Given the description of an element on the screen output the (x, y) to click on. 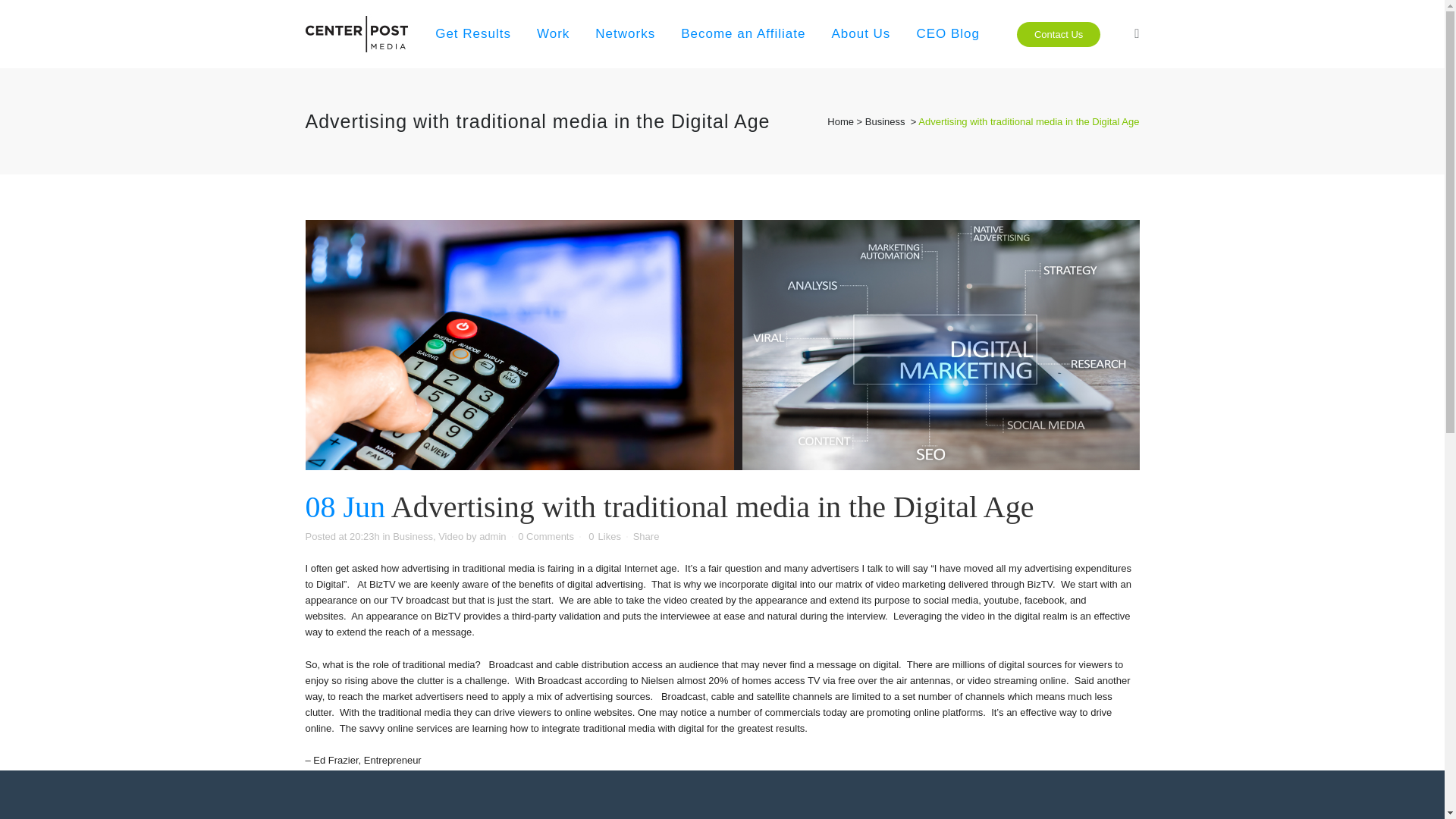
Get Results (473, 33)
Like this (604, 536)
Contact Us (1058, 33)
CEO Blog (947, 33)
Become an Affiliate (743, 33)
About Us (860, 33)
Networks (625, 33)
